Given the description of an element on the screen output the (x, y) to click on. 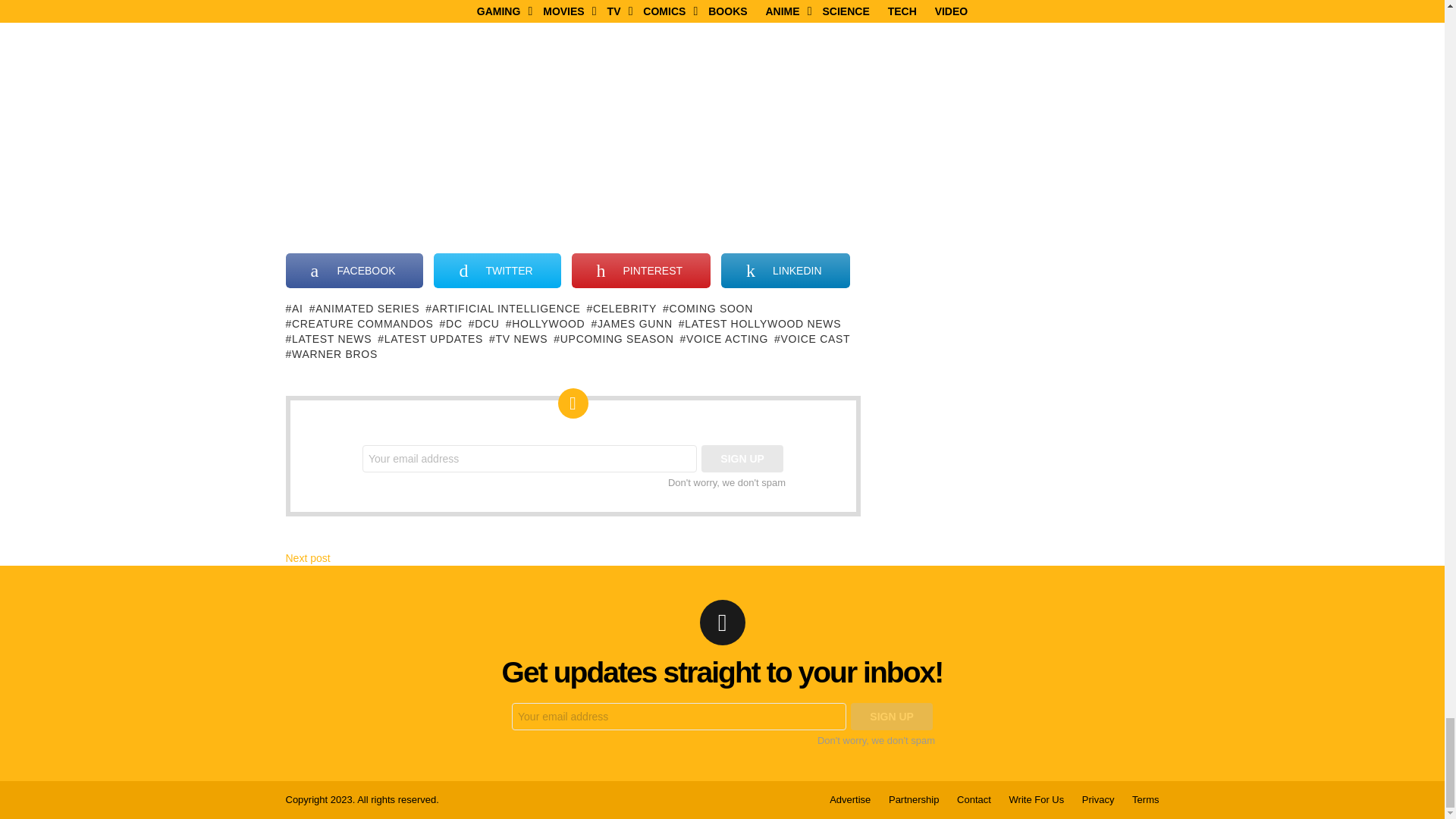
Sign up (891, 716)
Sign up (742, 458)
Share on Facebook (354, 270)
